Given the description of an element on the screen output the (x, y) to click on. 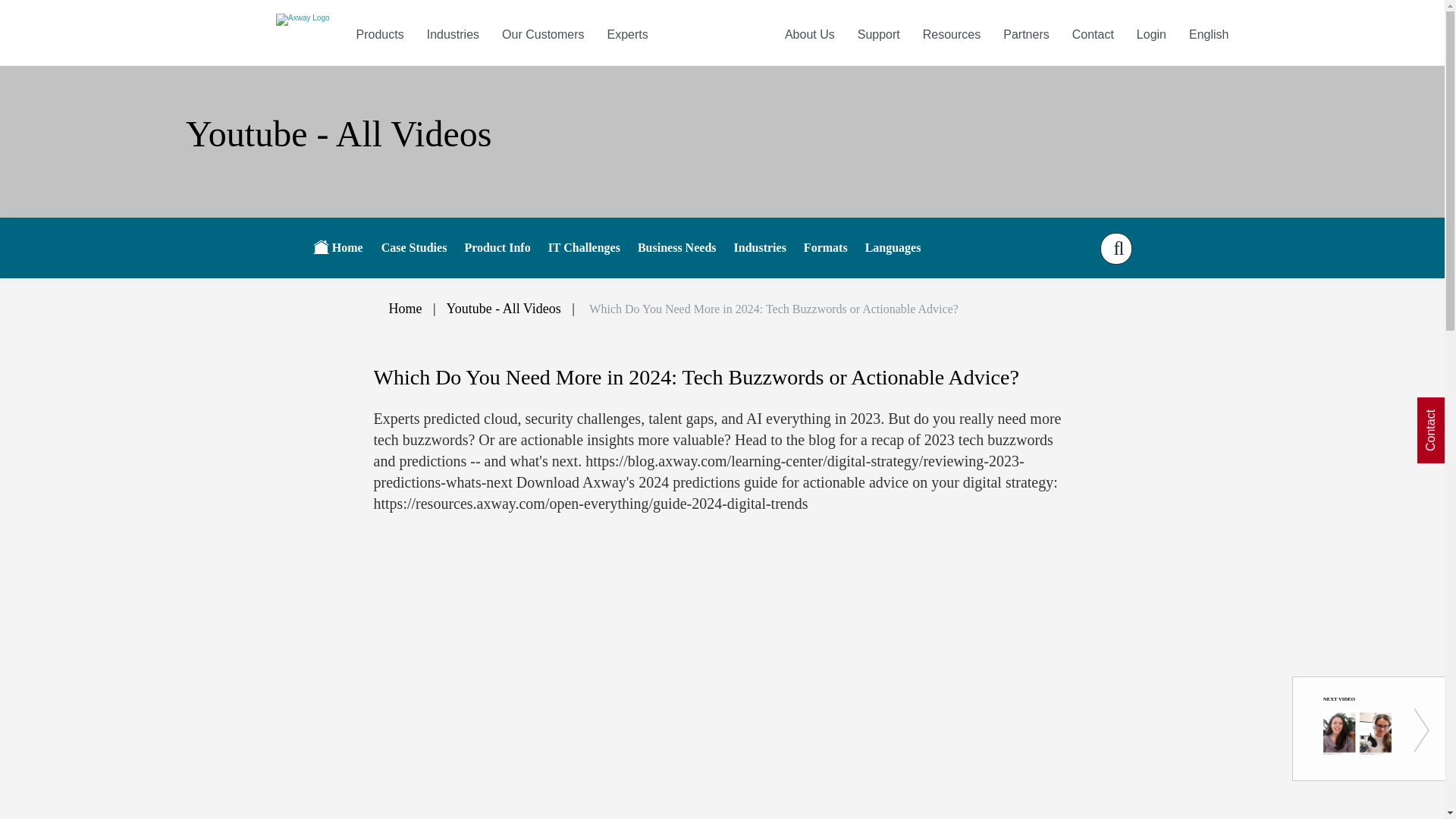
Support (878, 34)
About Us (809, 34)
Industries (452, 34)
Products (379, 34)
Experts (627, 34)
Our Customers (542, 34)
